Given the description of an element on the screen output the (x, y) to click on. 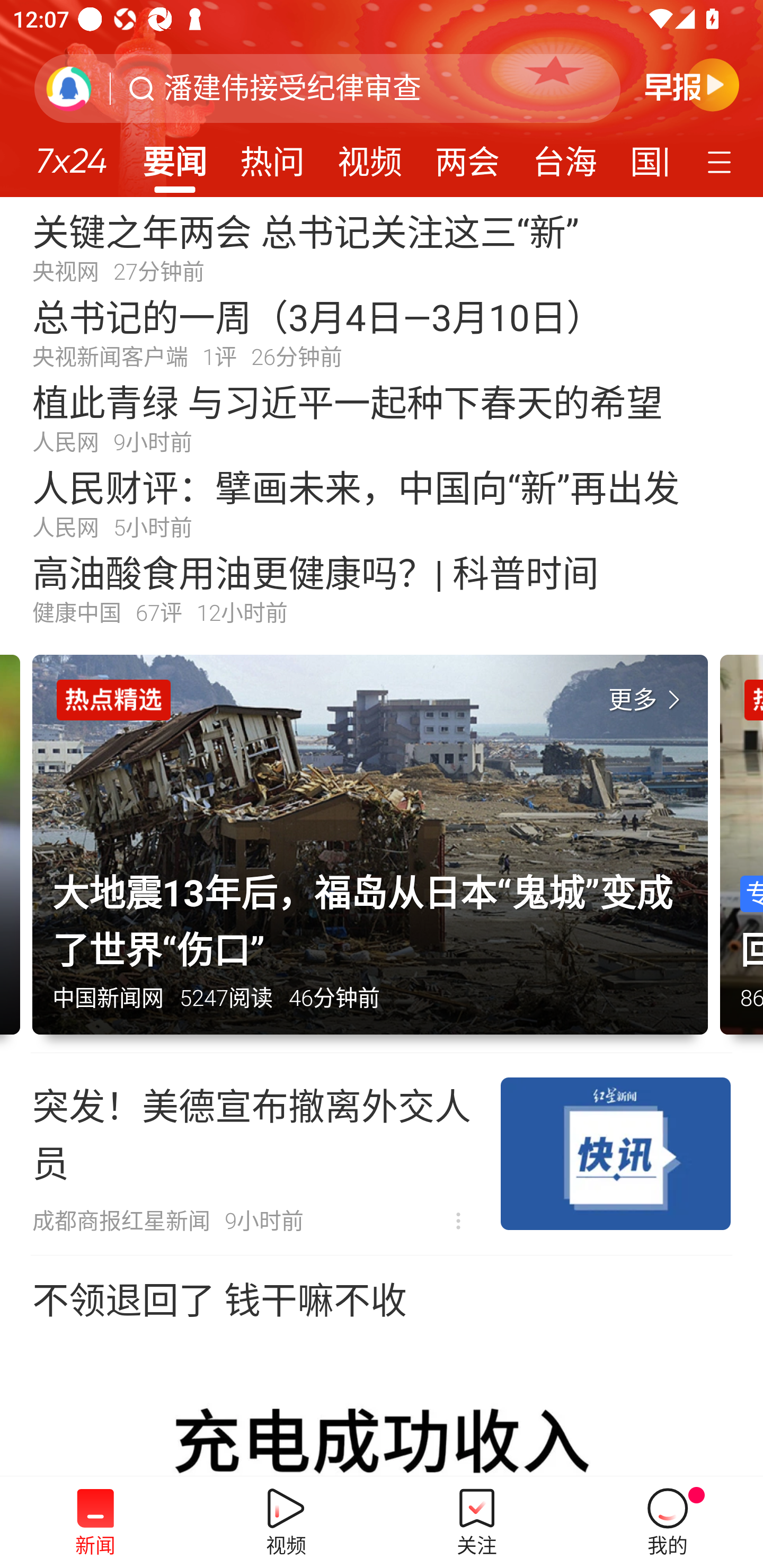
早晚报 (691, 84)
刷新 (68, 88)
潘建伟接受纪律审查 (292, 88)
7x24 (70, 154)
要闻 (174, 155)
热问 (272, 155)
视频 (369, 155)
两会 (466, 155)
台海 (564, 155)
 定制频道 (721, 160)
关键之年两会 总书记关注这三“新” 央视网 27分钟前 (381, 245)
总书记的一周（3月4日—3月10日） 央视新闻客户端 1评 26分钟前 (381, 331)
植此青绿 与习近平一起种下春天的希望 人民网 9小时前 (381, 416)
人民财评：擘画未来，中国向“新”再出发 人民网 5小时前 (381, 502)
高油酸食用油更健康吗？| 科普时间 健康中国 67评 12小时前 (381, 587)
更多  (648, 699)
突发！美德宣布撤离外交人员 成都商报红星新闻 9小时前  不感兴趣 (381, 1153)
 不感兴趣 (458, 1221)
不领退回了 钱干嘛不收 (381, 1366)
